Given the description of an element on the screen output the (x, y) to click on. 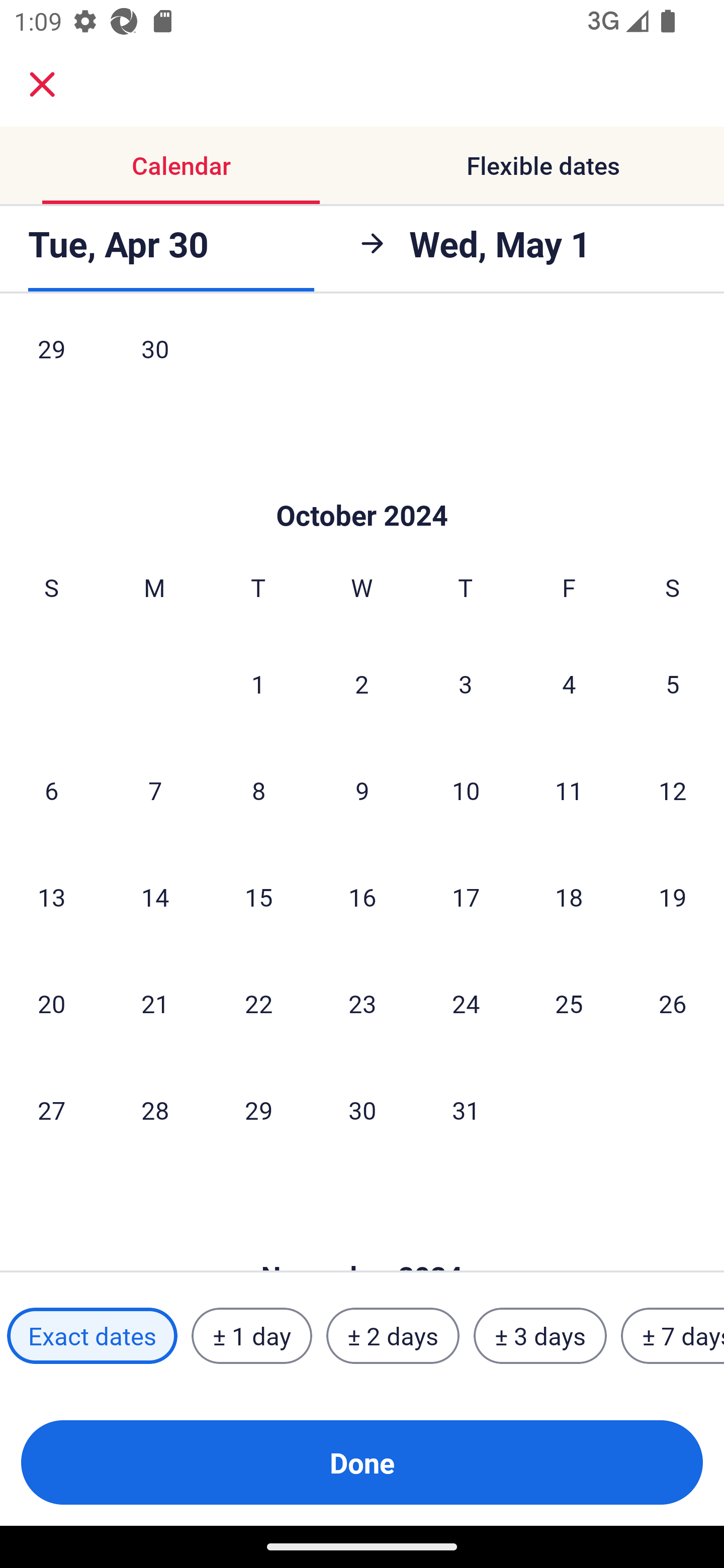
close. (42, 84)
Flexible dates (542, 164)
29 Sunday, September 29, 2024 (51, 360)
30 Monday, September 30, 2024 (155, 360)
Skip to Done (362, 485)
1 Tuesday, October 1, 2024 (257, 683)
2 Wednesday, October 2, 2024 (361, 683)
3 Thursday, October 3, 2024 (465, 683)
4 Friday, October 4, 2024 (569, 683)
5 Saturday, October 5, 2024 (672, 683)
6 Sunday, October 6, 2024 (51, 790)
7 Monday, October 7, 2024 (155, 790)
8 Tuesday, October 8, 2024 (258, 790)
9 Wednesday, October 9, 2024 (362, 790)
10 Thursday, October 10, 2024 (465, 790)
11 Friday, October 11, 2024 (569, 790)
12 Saturday, October 12, 2024 (672, 790)
13 Sunday, October 13, 2024 (51, 896)
14 Monday, October 14, 2024 (155, 896)
15 Tuesday, October 15, 2024 (258, 896)
16 Wednesday, October 16, 2024 (362, 896)
17 Thursday, October 17, 2024 (465, 896)
18 Friday, October 18, 2024 (569, 896)
19 Saturday, October 19, 2024 (672, 896)
20 Sunday, October 20, 2024 (51, 1003)
21 Monday, October 21, 2024 (155, 1003)
22 Tuesday, October 22, 2024 (258, 1003)
23 Wednesday, October 23, 2024 (362, 1003)
24 Thursday, October 24, 2024 (465, 1003)
25 Friday, October 25, 2024 (569, 1003)
26 Saturday, October 26, 2024 (672, 1003)
27 Sunday, October 27, 2024 (51, 1109)
28 Monday, October 28, 2024 (155, 1109)
29 Tuesday, October 29, 2024 (258, 1109)
30 Wednesday, October 30, 2024 (362, 1109)
31 Thursday, October 31, 2024 (465, 1109)
Exact dates (92, 1335)
± 1 day (251, 1335)
± 2 days (392, 1335)
± 3 days (539, 1335)
± 7 days (672, 1335)
Done (361, 1462)
